Given the description of an element on the screen output the (x, y) to click on. 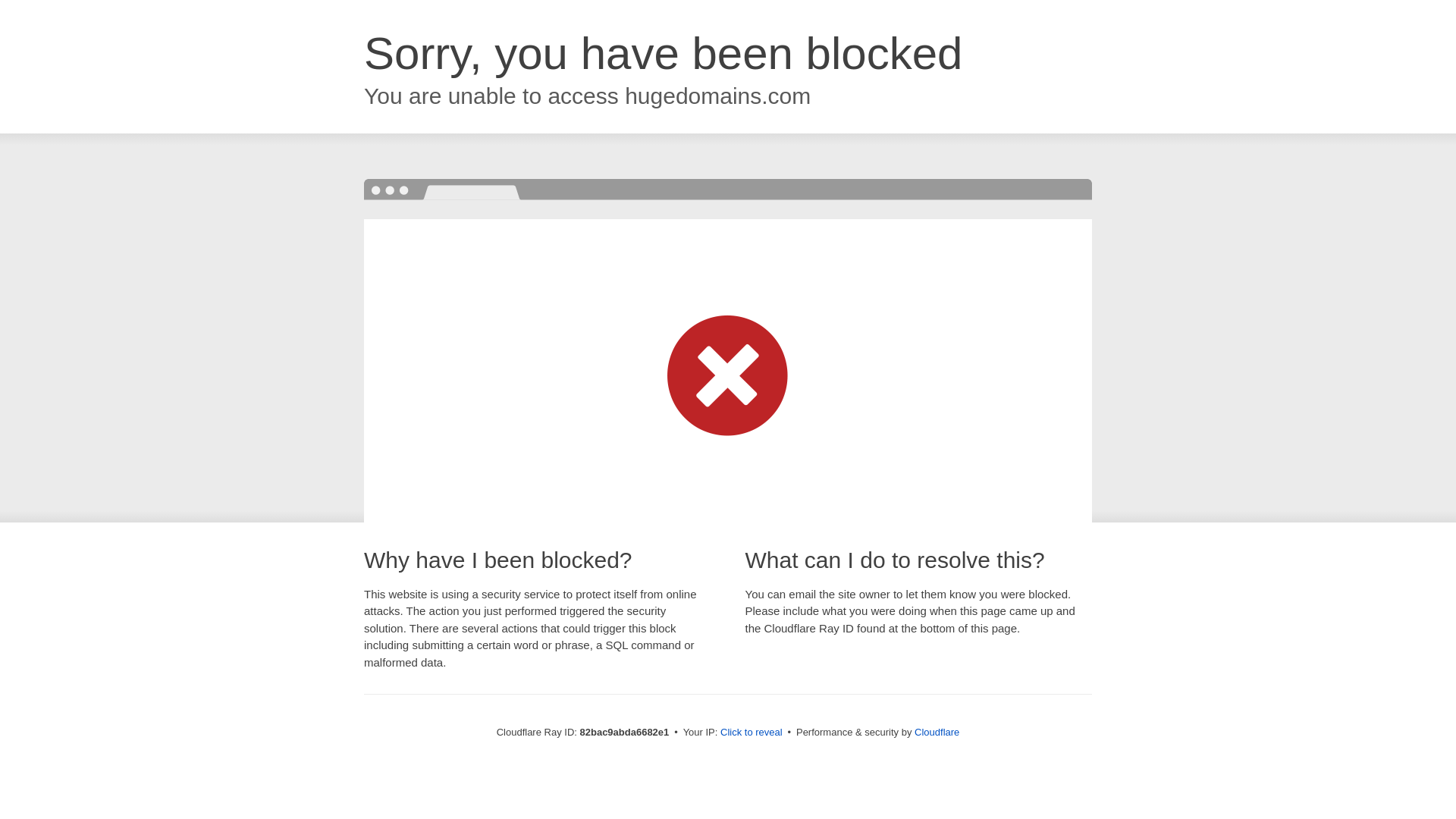
Cloudflare Element type: text (936, 731)
Click to reveal Element type: text (751, 732)
